Given the description of an element on the screen output the (x, y) to click on. 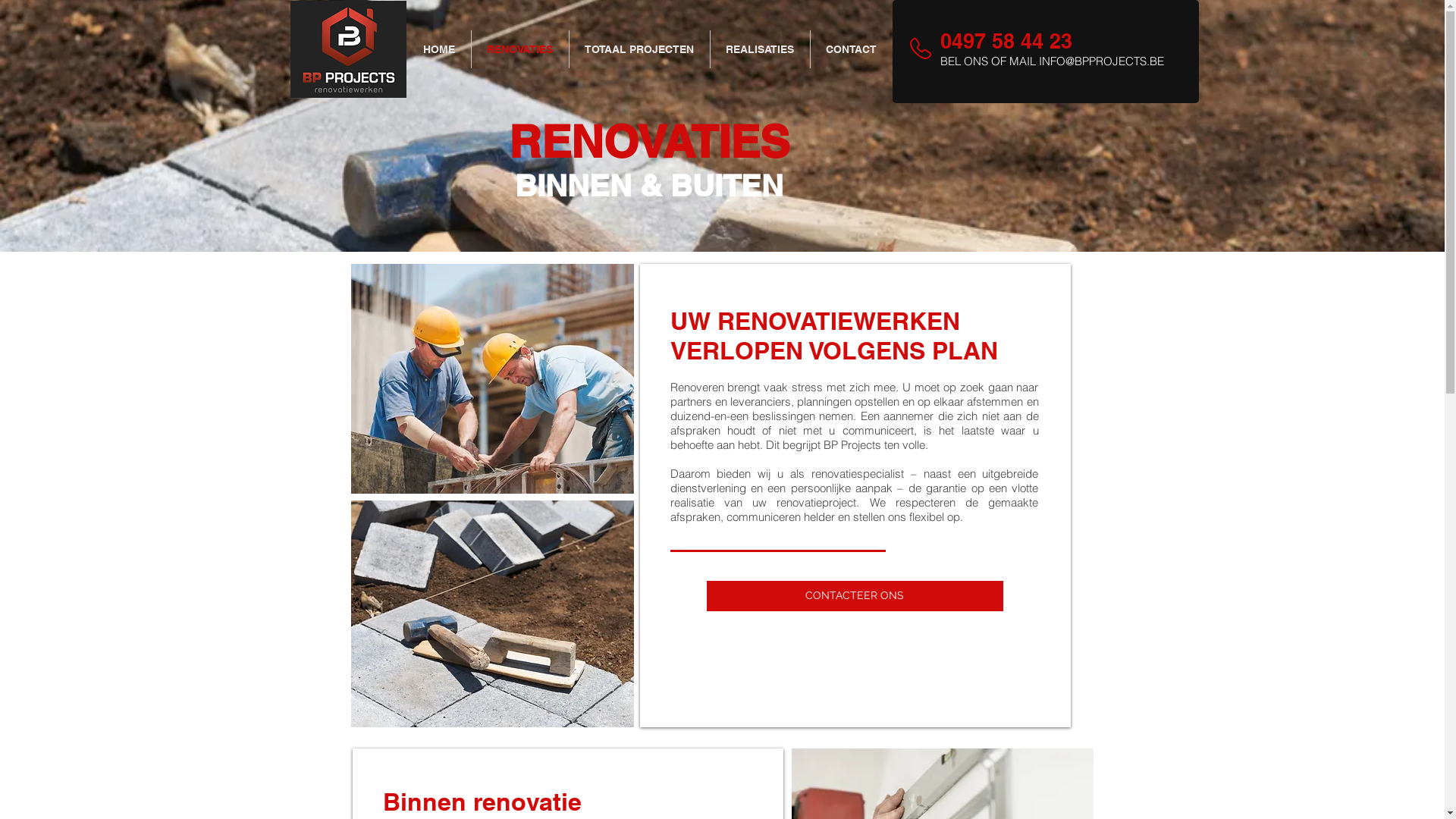
REALISATIES Element type: text (759, 49)
TOTAAL PROJECTEN Element type: text (638, 49)
RENOVATIES Element type: text (519, 49)
CONTACT Element type: text (850, 49)
CONTACTEER ONS Element type: text (854, 595)
INFO@BPPROJECTS.BE Element type: text (1101, 60)
HOME Element type: text (438, 49)
